Given the description of an element on the screen output the (x, y) to click on. 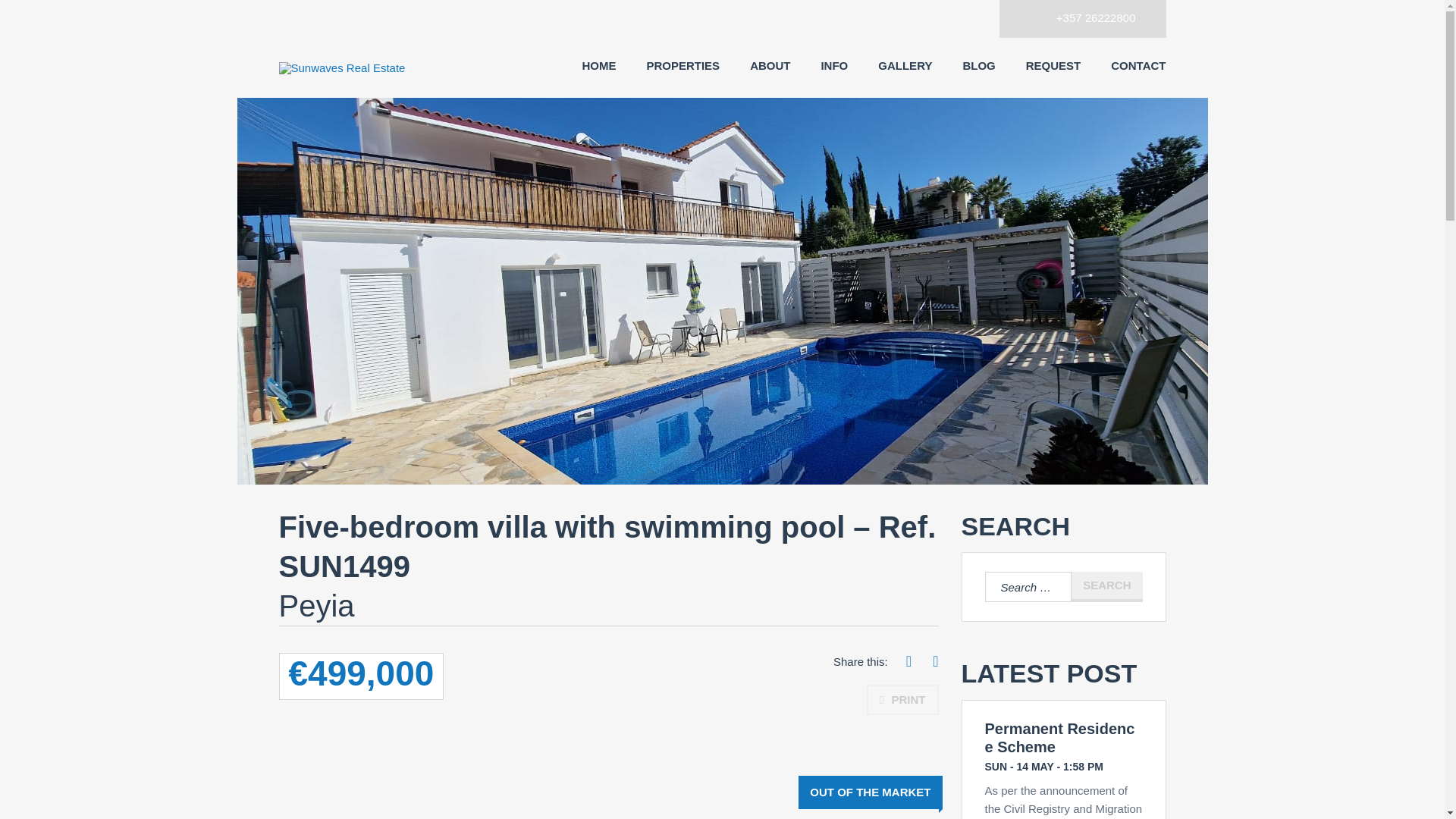
Sunwaves Real Estate (354, 68)
PROPERTIES (682, 65)
Search (1106, 586)
HOME (597, 65)
Search (1106, 586)
